Given the description of an element on the screen output the (x, y) to click on. 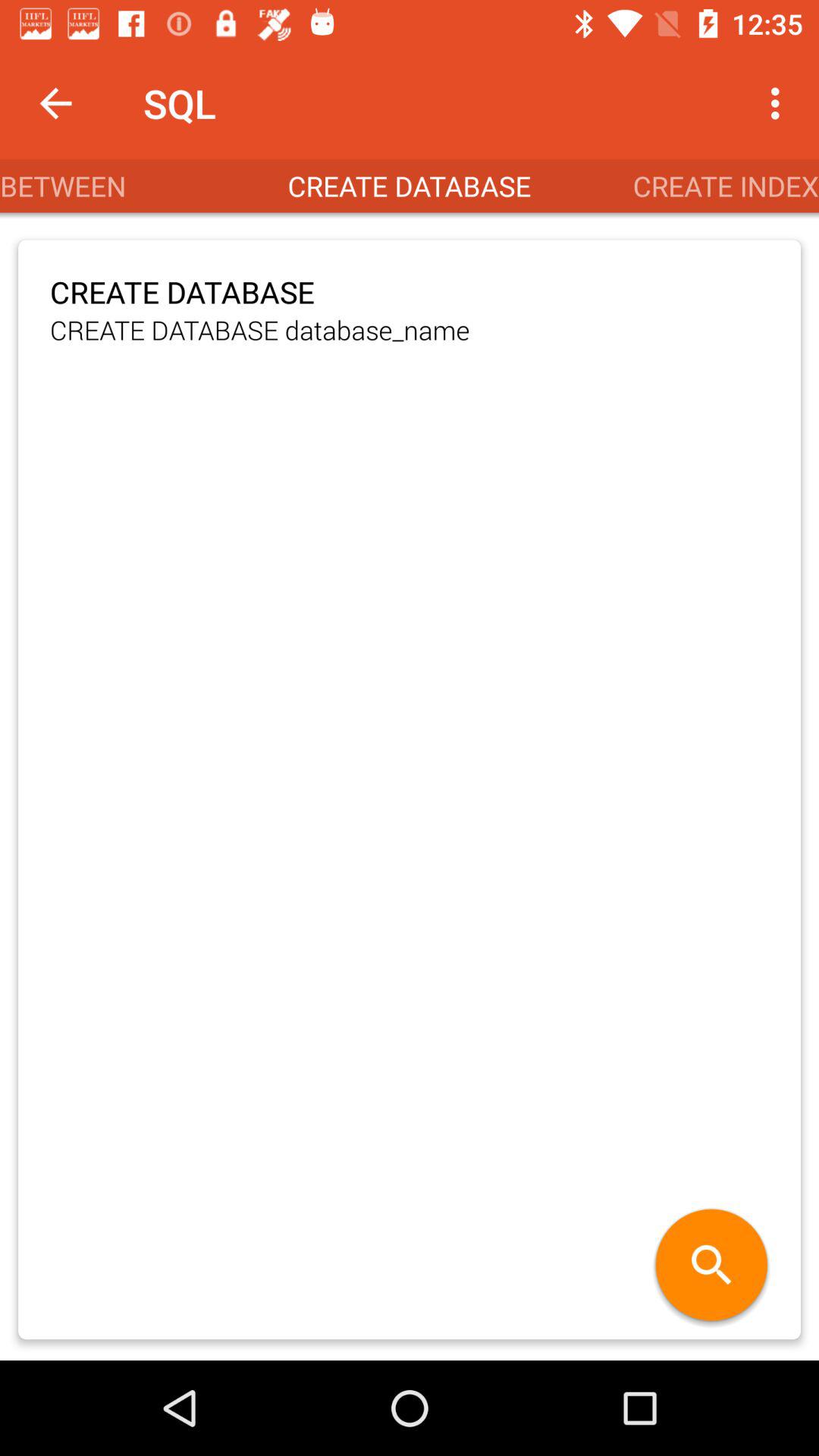
turn off the app to the right of sql item (779, 103)
